Given the description of an element on the screen output the (x, y) to click on. 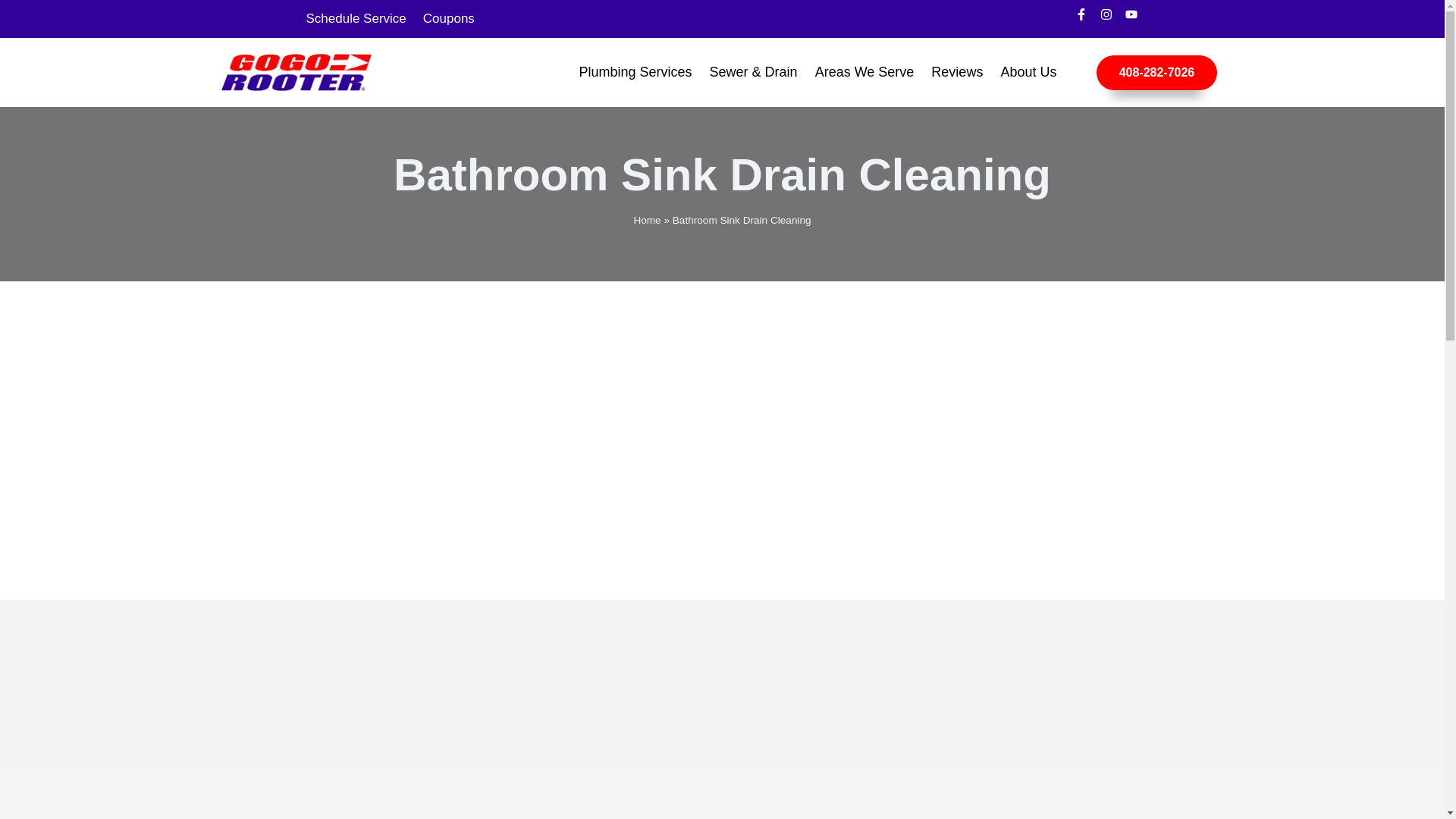
Coupons (448, 18)
Plumbing Services (636, 72)
Areas We Serve (864, 72)
Schedule Service (355, 18)
